Given the description of an element on the screen output the (x, y) to click on. 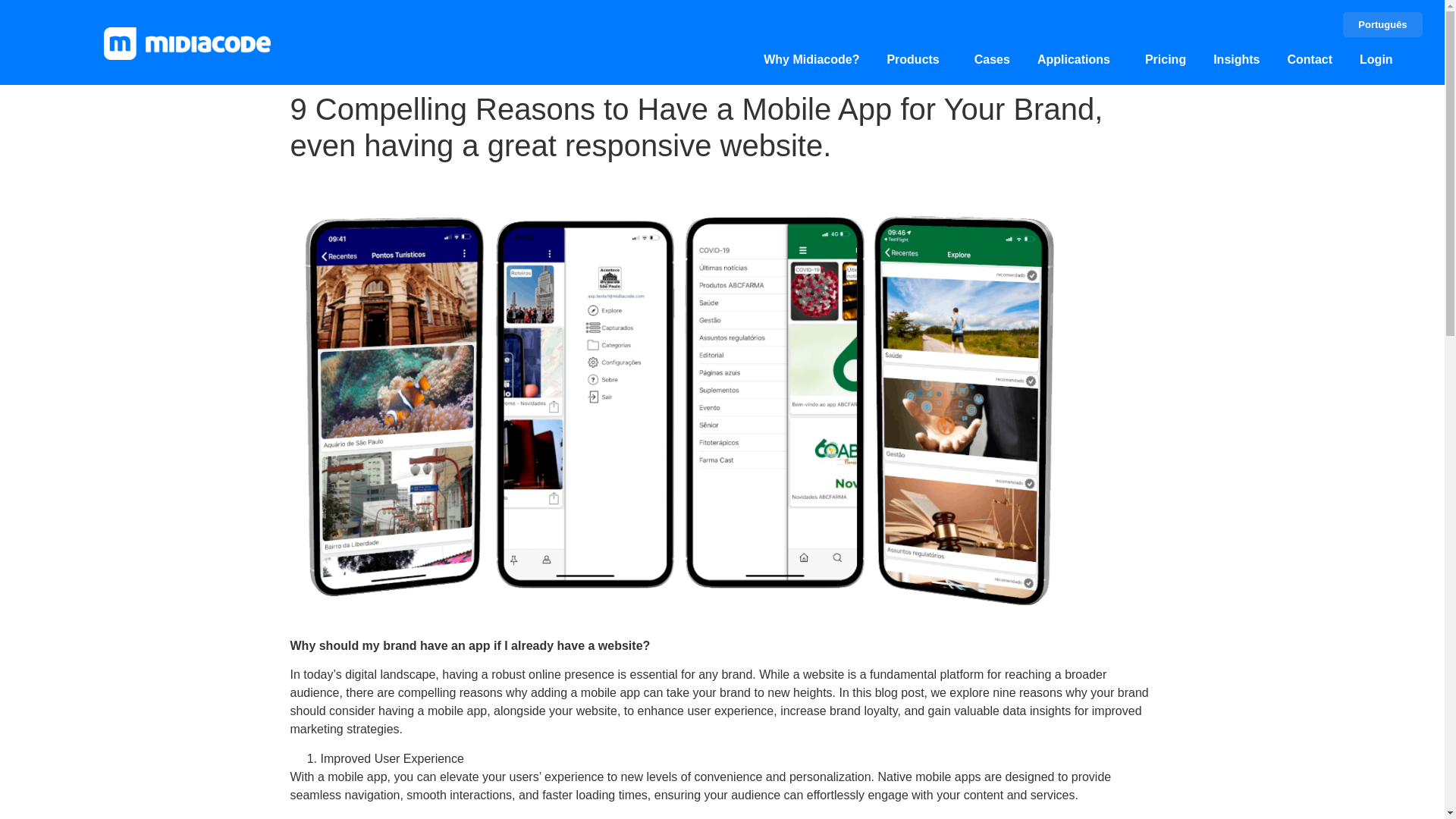
Cases (991, 60)
Products (915, 60)
Pricing (1165, 60)
Contact (1310, 60)
Insights (1235, 60)
Login (1375, 60)
Applications (1077, 60)
Why Midiacode? (810, 60)
